Given the description of an element on the screen output the (x, y) to click on. 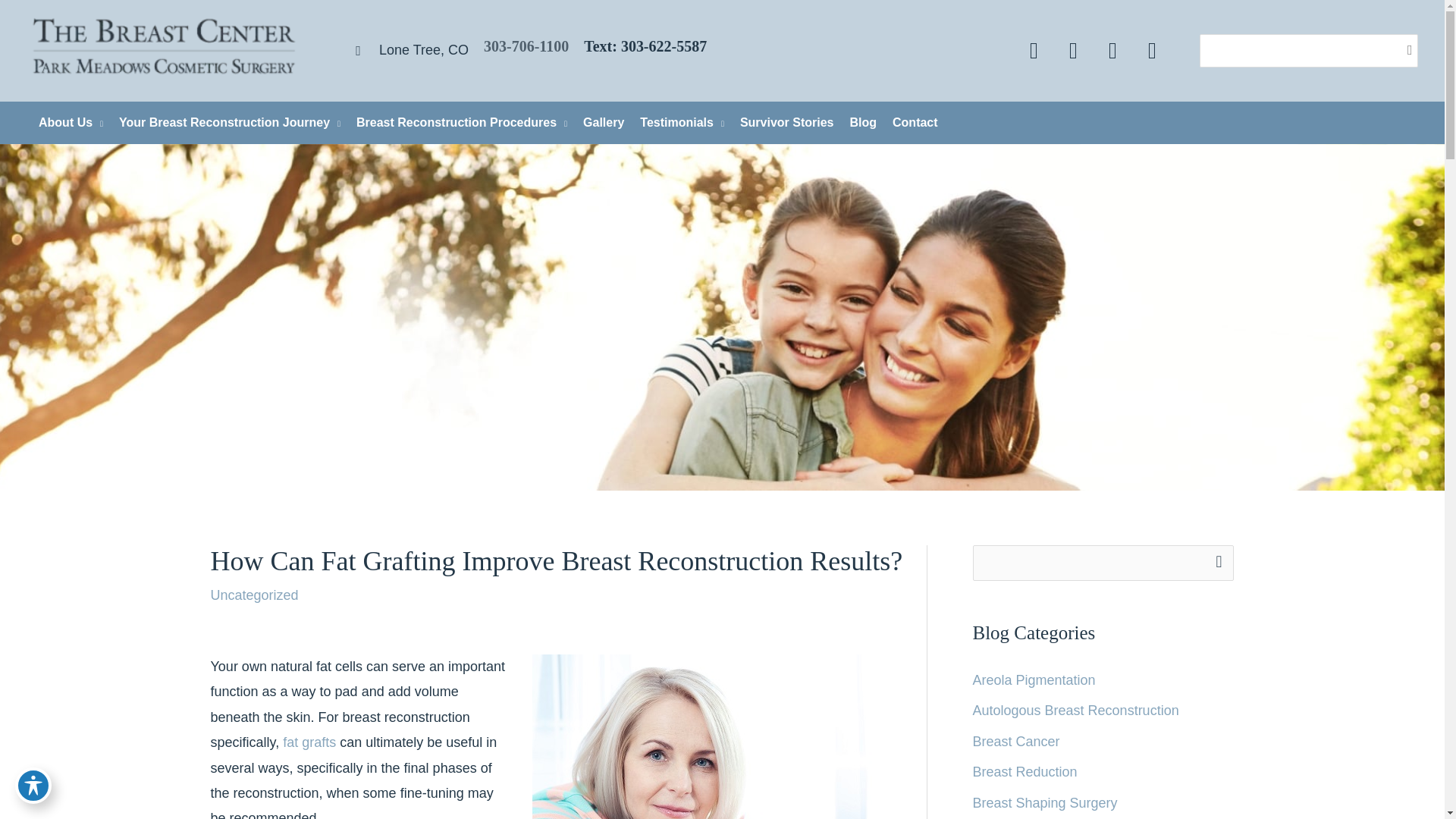
Your Breast Reconstruction Journey (224, 122)
Lone Tree, CO (404, 49)
303-706-1100 (526, 45)
About Us (66, 122)
303-622-5587 (663, 45)
Breast Reconstruction Procedures (456, 122)
